Given the description of an element on the screen output the (x, y) to click on. 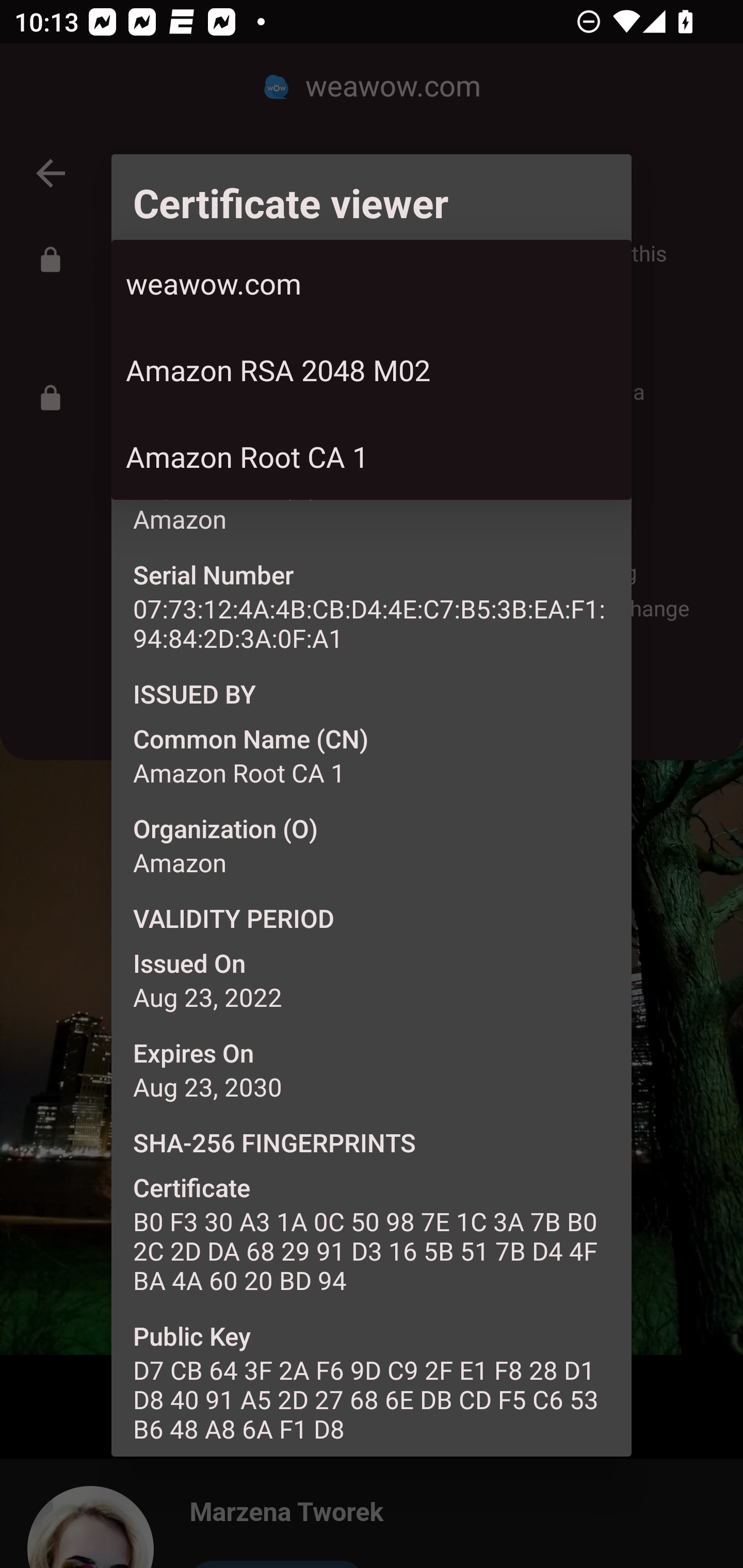
weawow.com (371, 282)
Amazon RSA 2048 M02 (371, 369)
Amazon Root CA 1 (371, 456)
